Given the description of an element on the screen output the (x, y) to click on. 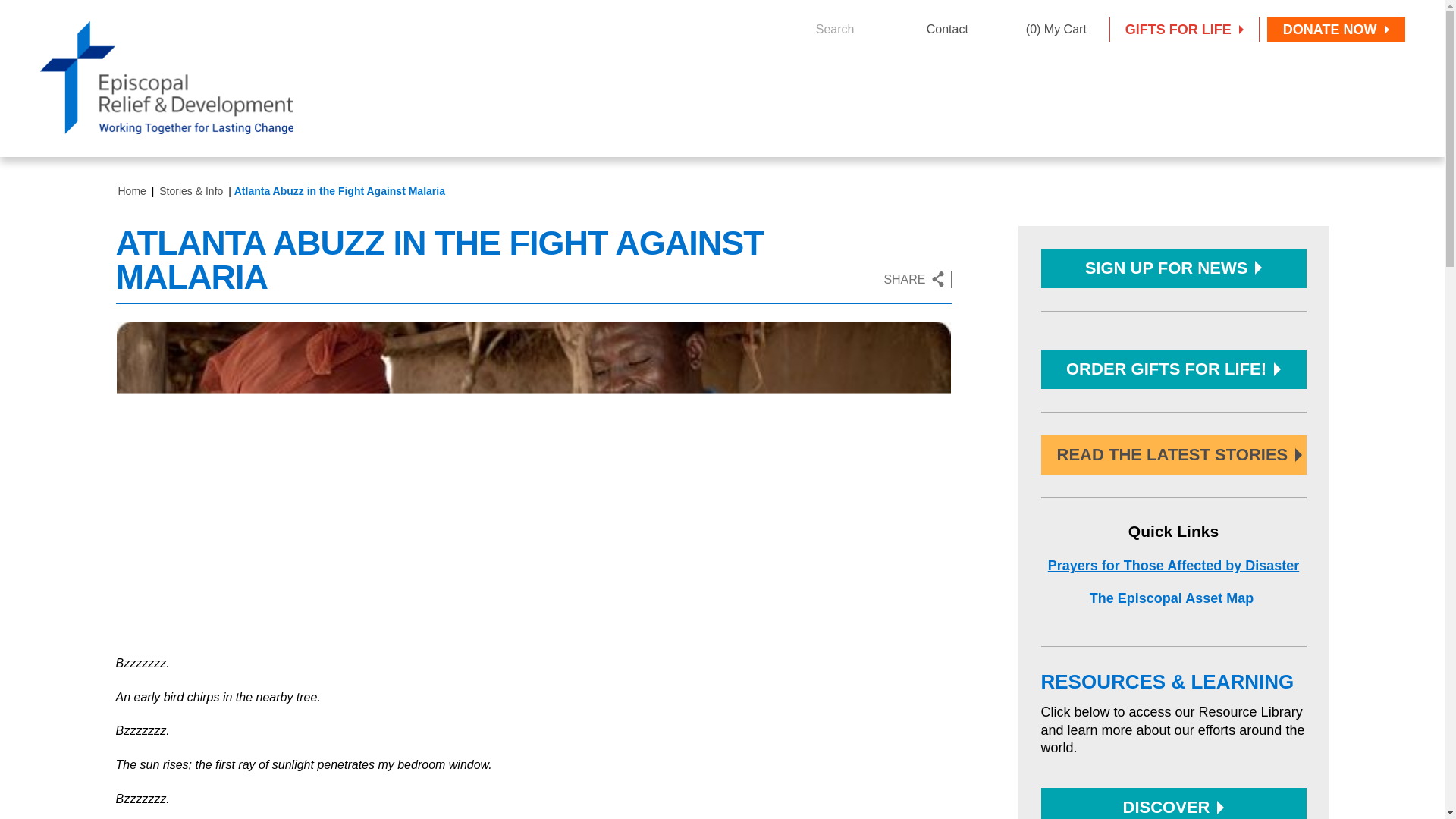
LinkedIn (1026, 280)
GIFTS FOR LIFE (1184, 29)
Twitter (996, 280)
Prayers for Those Affected by Disaster (1173, 565)
Facebook (965, 280)
DONATE NOW (1335, 29)
Email (1056, 280)
Contact (934, 29)
